Given the description of an element on the screen output the (x, y) to click on. 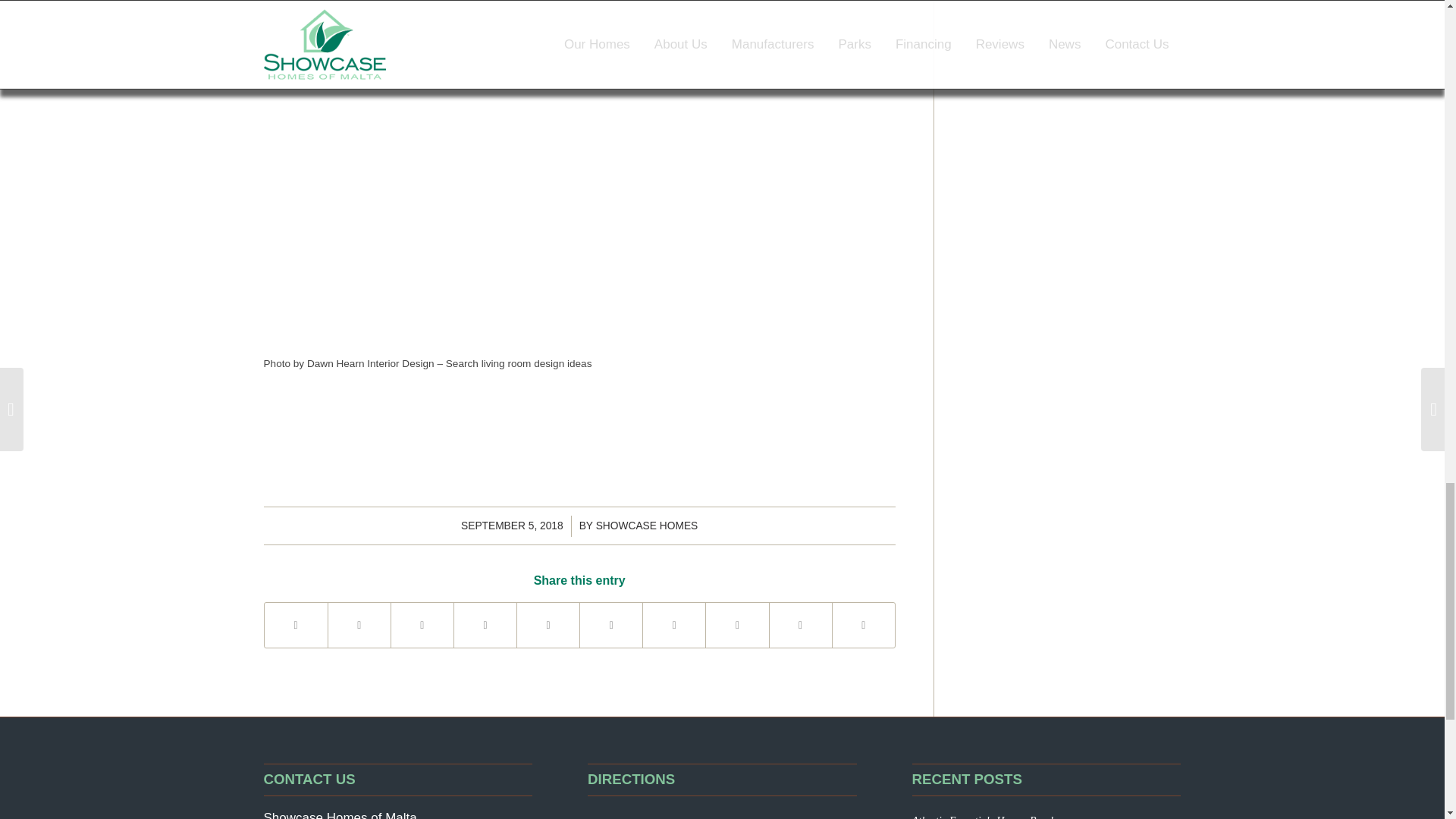
Posts by showcase homes (646, 525)
Photo by Dawn Hearn Interior Design (348, 363)
Search living room design ideas (518, 363)
SHOWCASE HOMES (646, 525)
